Given the description of an element on the screen output the (x, y) to click on. 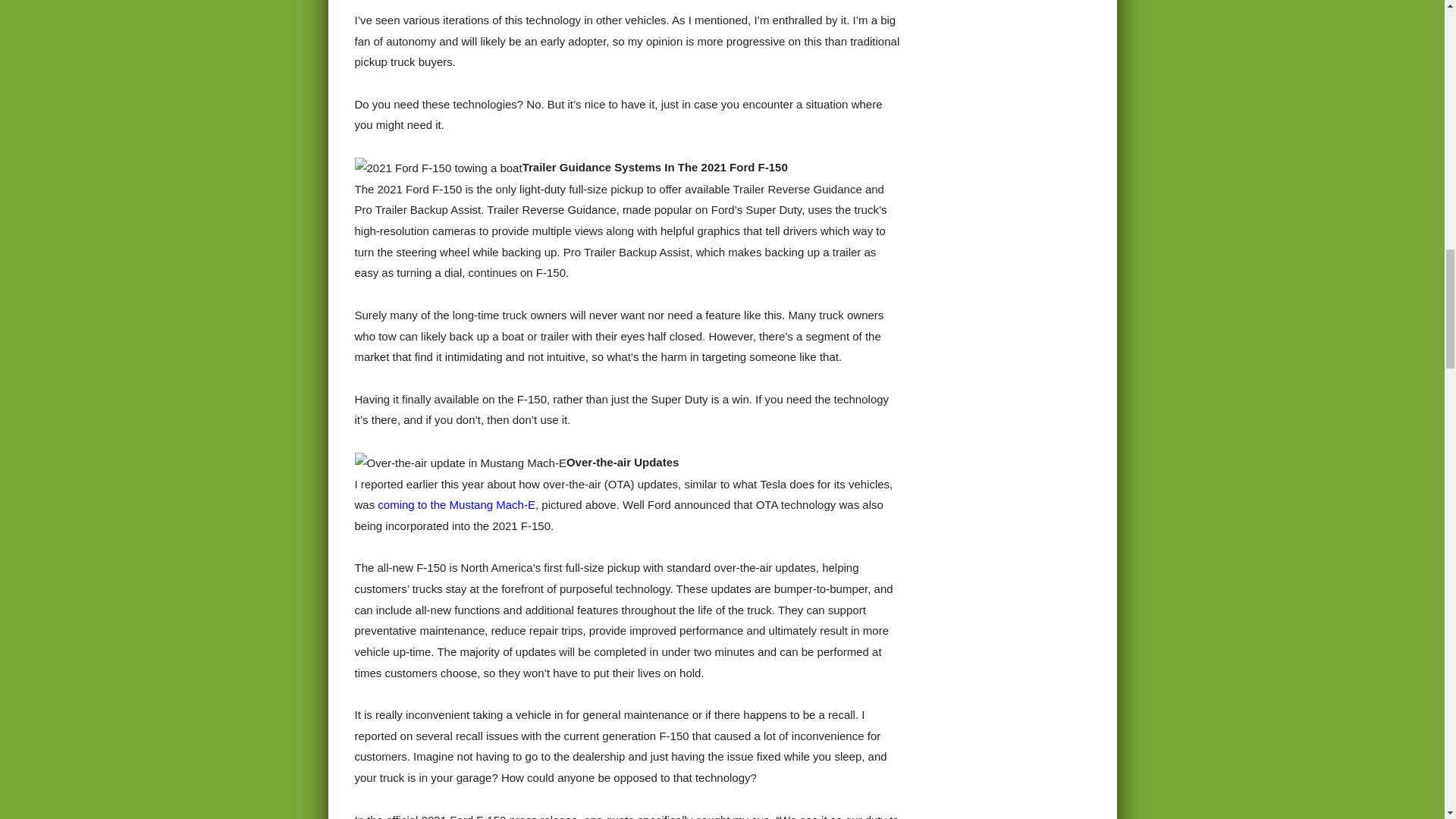
coming to the Mustang Mach-E (456, 504)
